Given the description of an element on the screen output the (x, y) to click on. 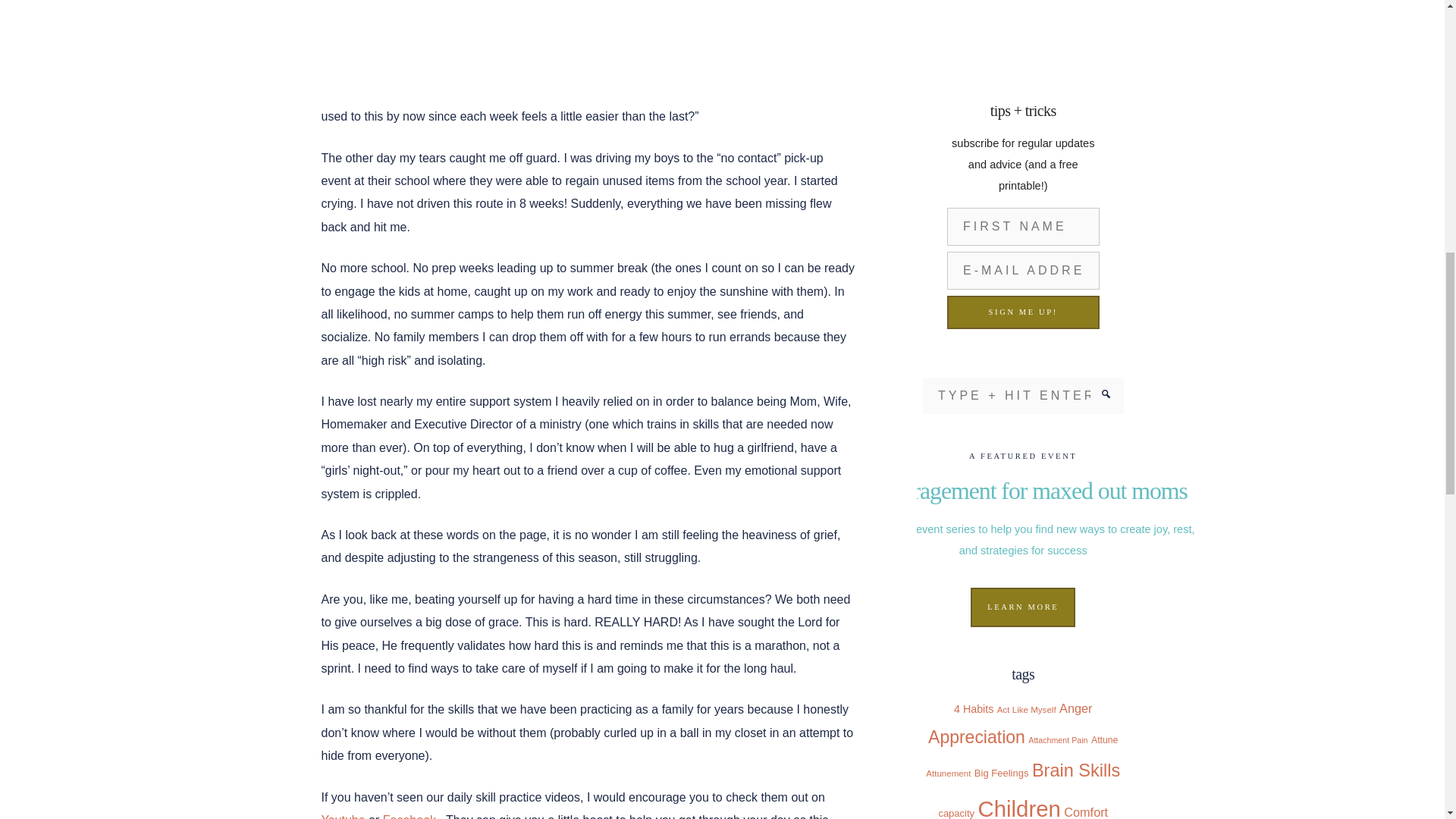
Comfort (1086, 812)
Appreciation (976, 736)
Youtube (345, 816)
Attachment Pain (1057, 739)
Big Feelings (1001, 772)
capacity (955, 813)
Act Like Myself (1027, 709)
sign me up! (1023, 312)
LEARN MORE (1023, 607)
Attune (1104, 739)
Facebook (408, 816)
Attunement (948, 773)
Brain Skills (1075, 770)
Children (1019, 807)
sign me up! (1023, 312)
